Given the description of an element on the screen output the (x, y) to click on. 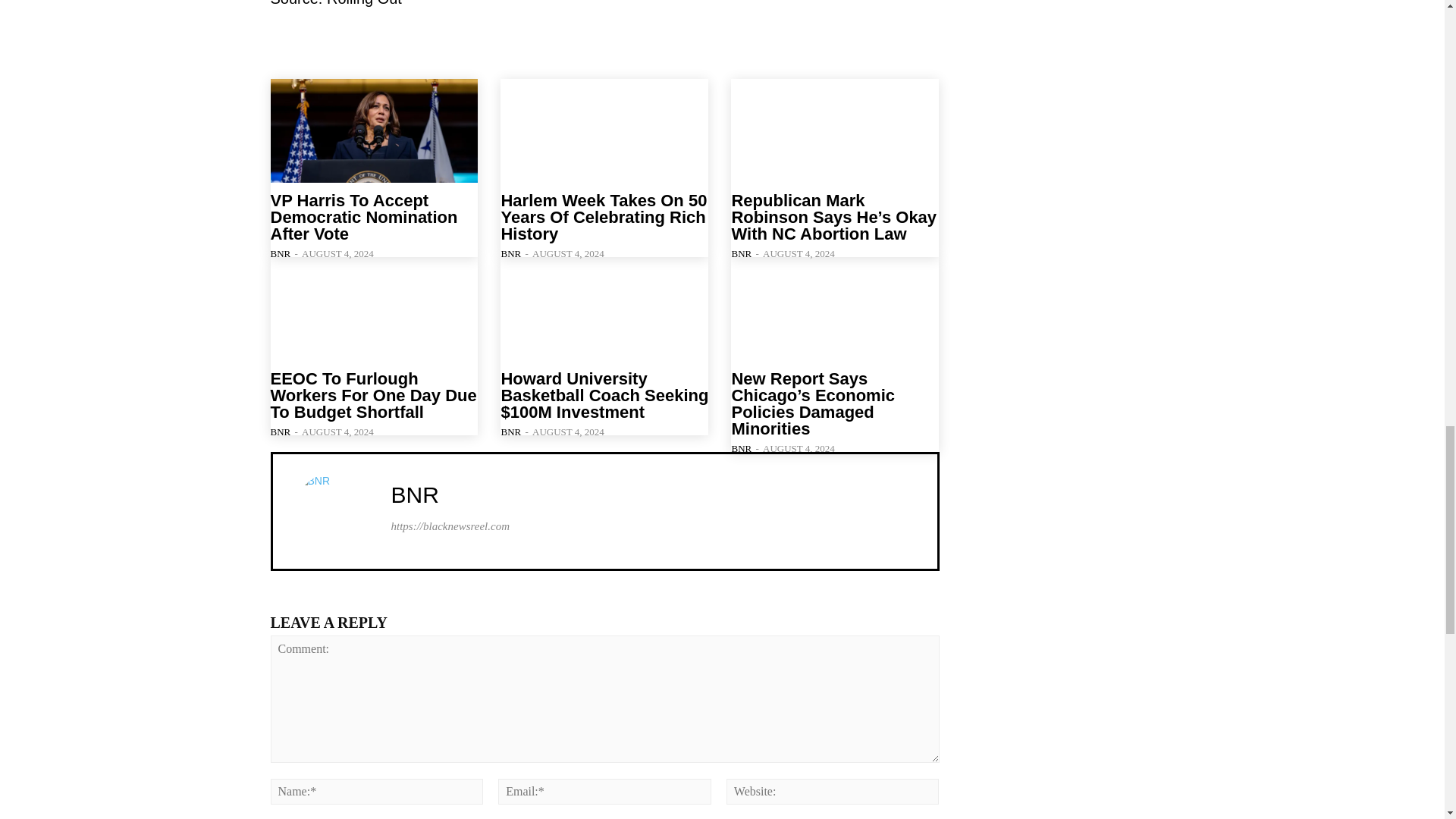
VP Harris To Accept Democratic Nomination After Vote (373, 130)
